Given the description of an element on the screen output the (x, y) to click on. 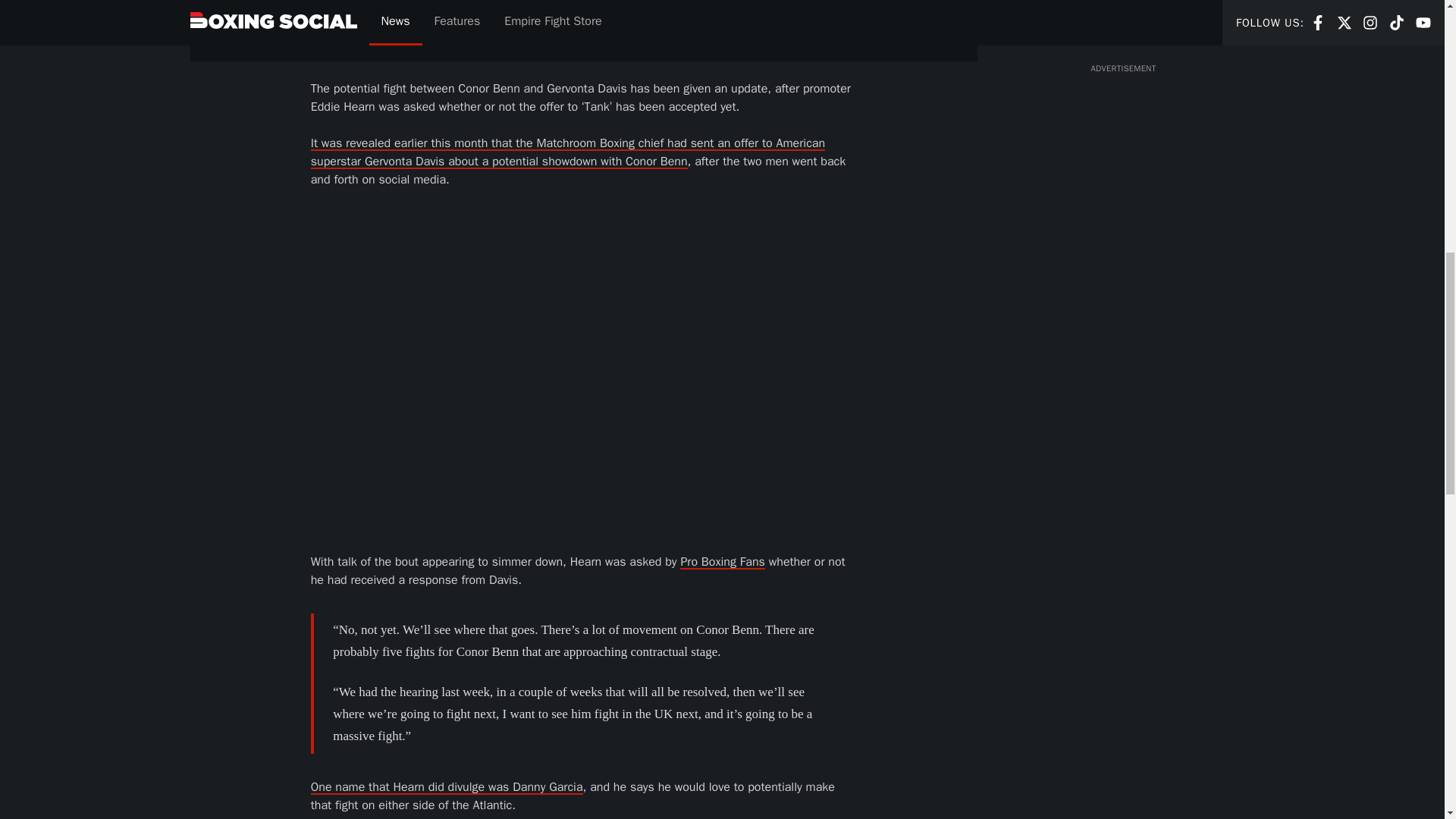
Pro Boxing Fans (722, 561)
One name that Hearn did divulge was Danny Garcia (447, 786)
